Given the description of an element on the screen output the (x, y) to click on. 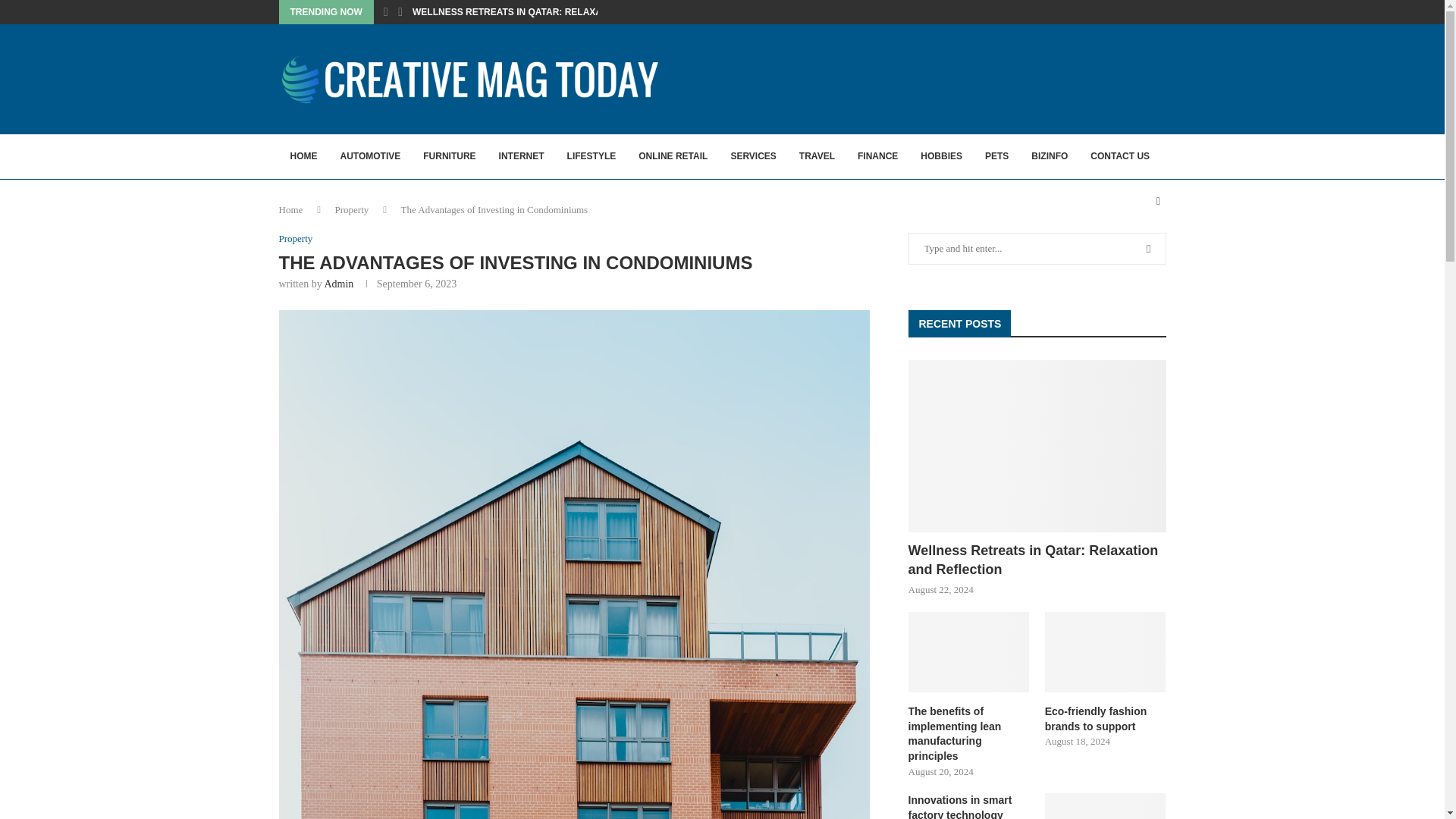
PETS (997, 156)
TRAVEL (816, 156)
Home (290, 209)
SERVICES (753, 156)
FINANCE (876, 156)
INTERNET (521, 156)
HOBBIES (941, 156)
Wellness Retreats in Qatar: Relaxation and Reflection (1037, 446)
Admin (338, 283)
